Given the description of an element on the screen output the (x, y) to click on. 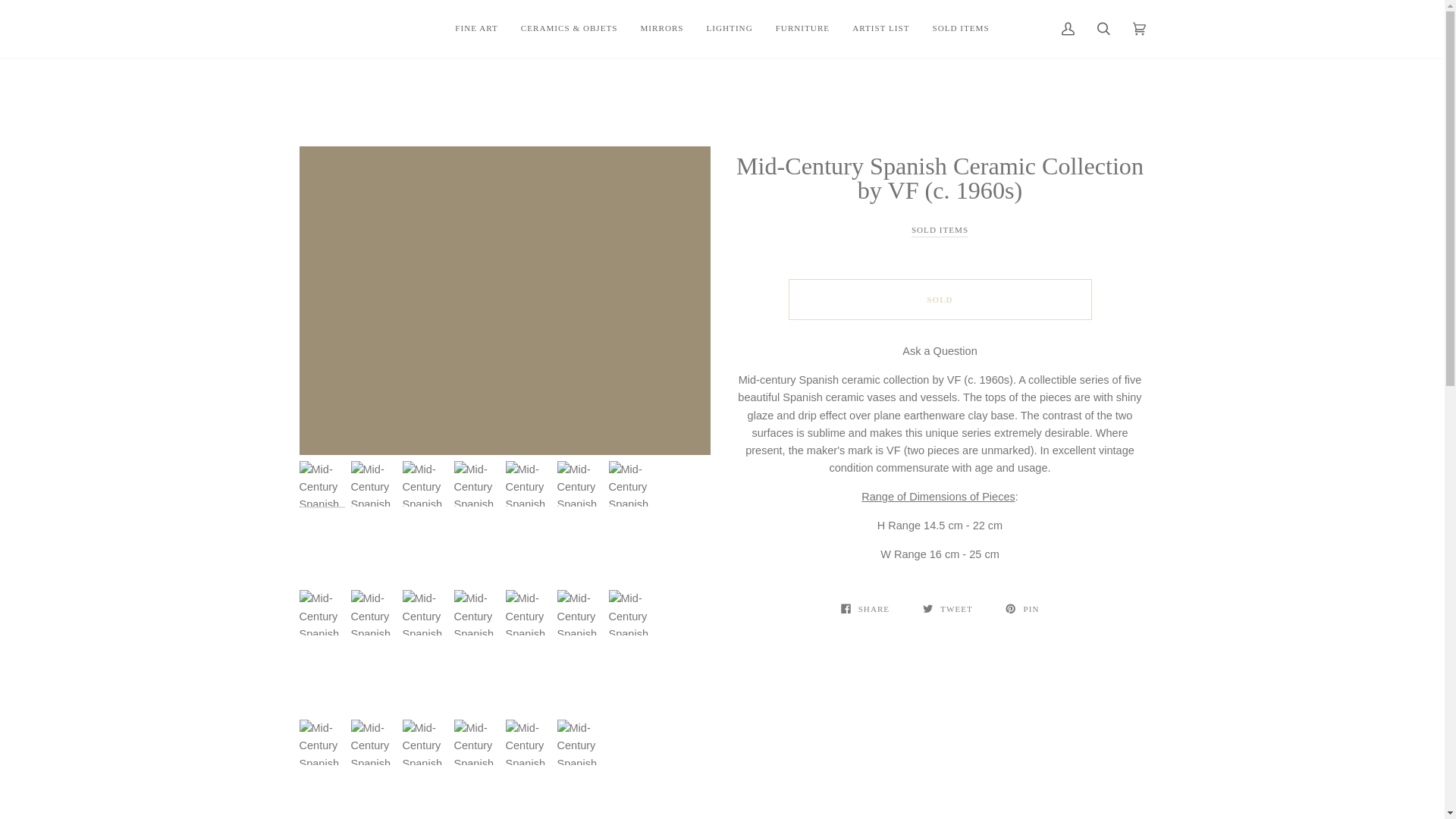
My Account (1066, 29)
LIGHTING (729, 29)
Search (1103, 29)
FURNITURE (802, 29)
ARTIST LIST (880, 29)
SOLD ITEMS (960, 29)
FINE ART (476, 29)
MIRRORS (661, 29)
